Given the description of an element on the screen output the (x, y) to click on. 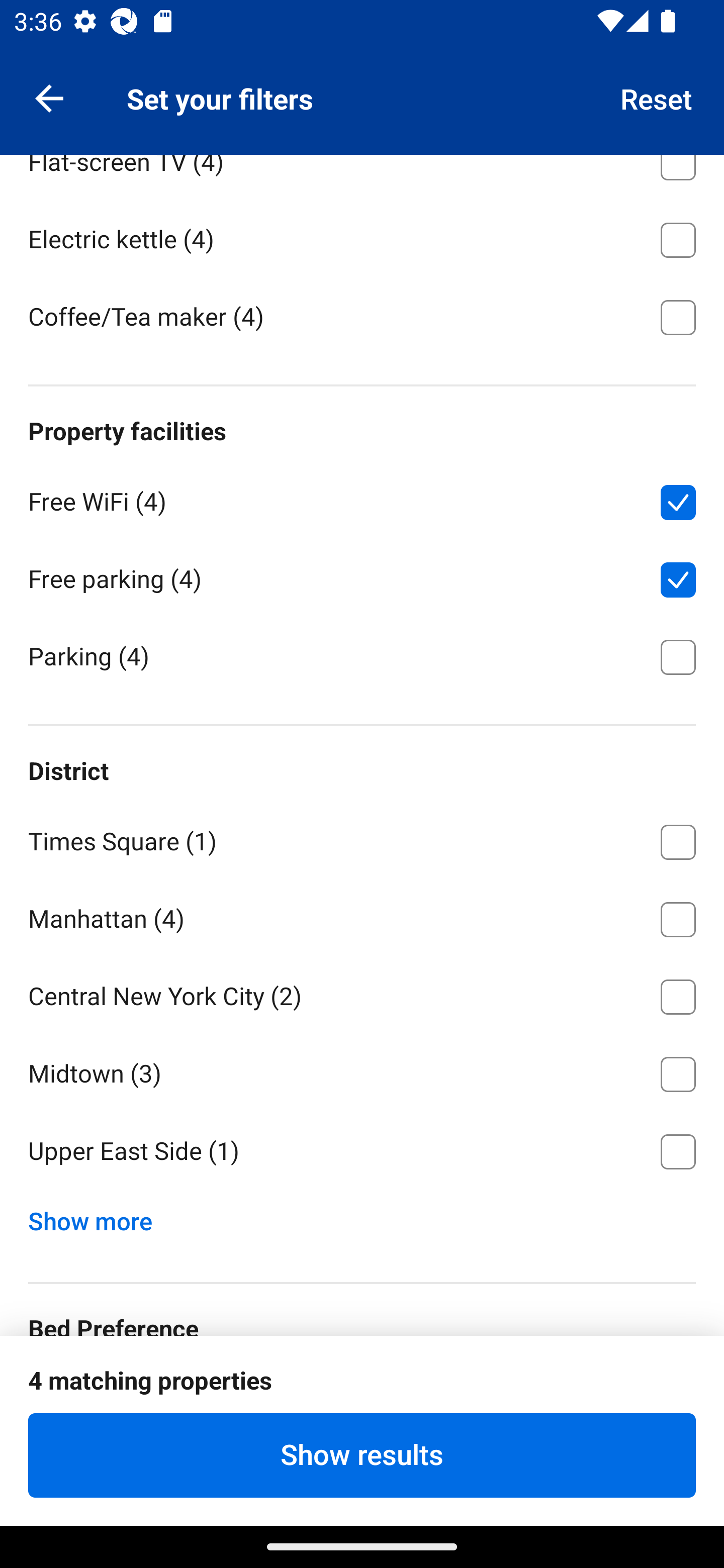
Bathtub ⁦(4) (361, 81)
Navigate up (49, 97)
Reset (656, 97)
Flat-screen TV ⁦(4) (361, 176)
Electric kettle ⁦(4) (361, 236)
Coffee/Tea maker ⁦(4) (361, 315)
Free WiFi ⁦(4) (361, 498)
Free parking ⁦(4) (361, 575)
Parking ⁦(4) (361, 655)
Times Square ⁦(1) (361, 838)
Manhattan ⁦(4) (361, 916)
Central New York City ⁦(2) (361, 992)
Midtown ⁦(3) (361, 1070)
Upper East Side ⁦(1) (361, 1152)
Show more (97, 1217)
Double bed ⁦(4) (361, 1398)
Show results (361, 1454)
